Given the description of an element on the screen output the (x, y) to click on. 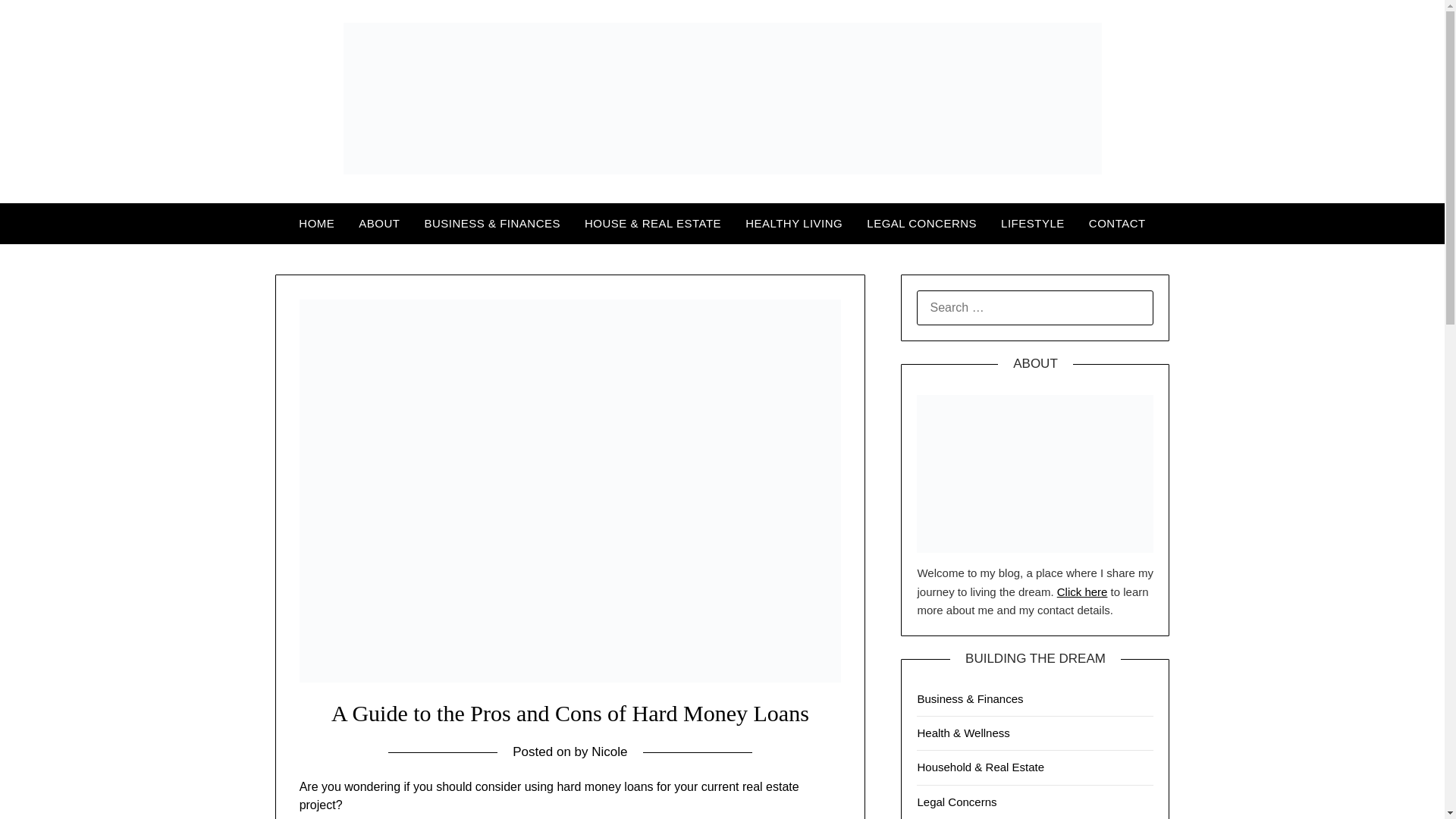
LIFESTYLE (1032, 223)
Legal Concerns (956, 801)
HEALTHY LIVING (793, 223)
Search (38, 22)
ABOUT (379, 223)
LEGAL CONCERNS (921, 223)
Click here (1082, 591)
CONTACT (1117, 223)
Nicole (609, 751)
HOME (316, 223)
